Given the description of an element on the screen output the (x, y) to click on. 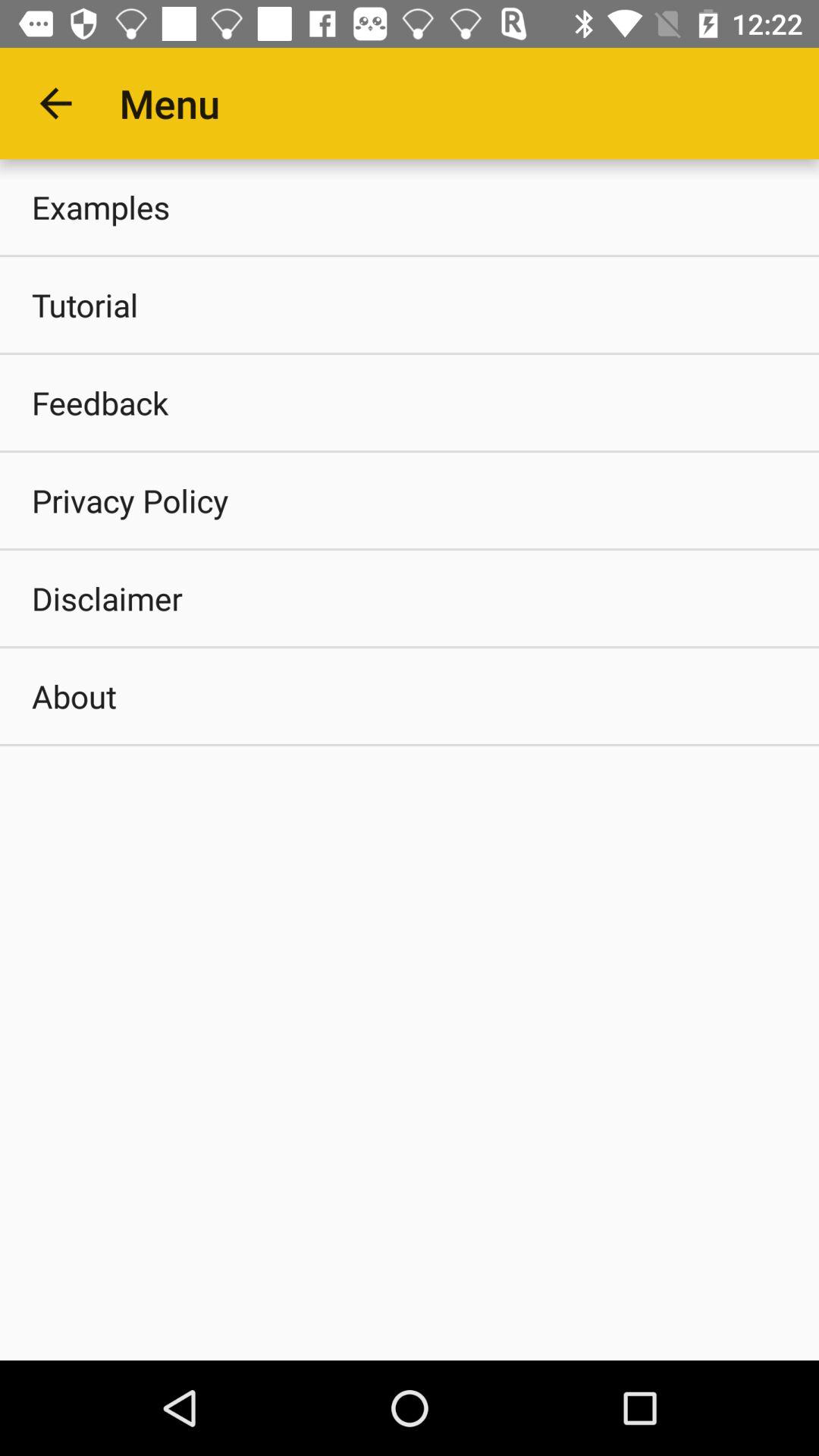
choose the about item (409, 695)
